Given the description of an element on the screen output the (x, y) to click on. 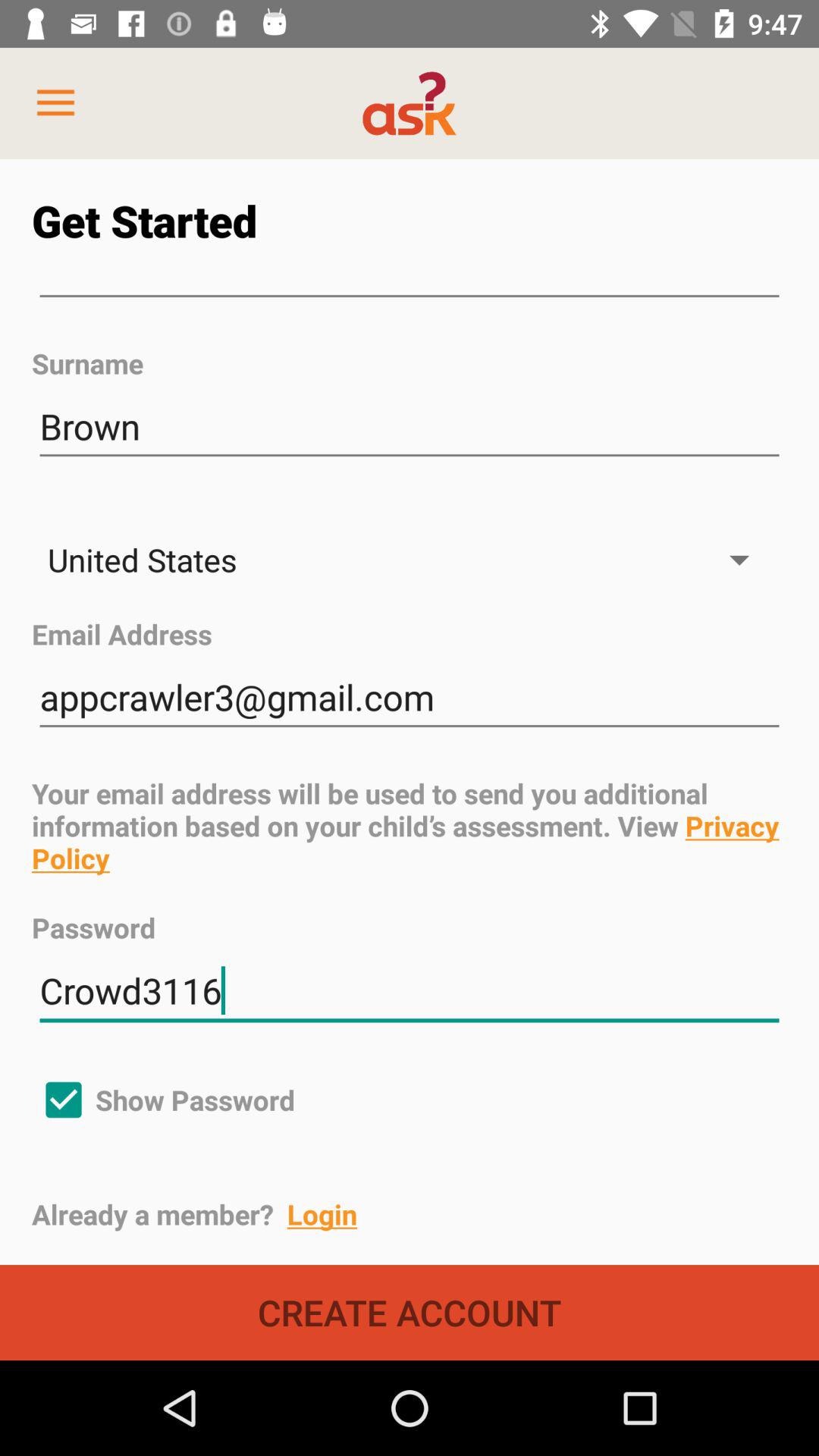
launch the icon below the password (409, 991)
